Given the description of an element on the screen output the (x, y) to click on. 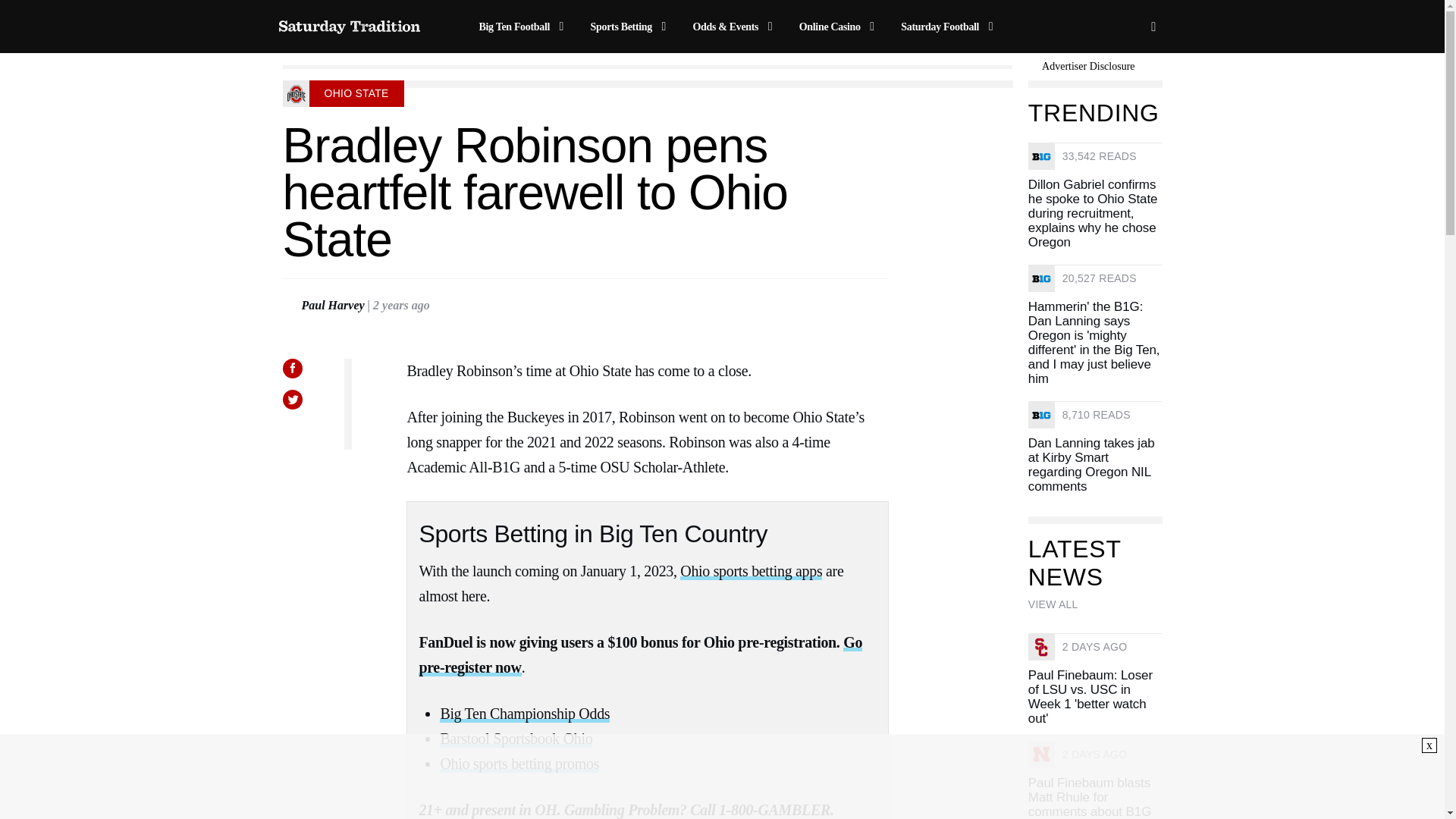
Big Ten Football (524, 26)
Sports Betting (631, 26)
